Given the description of an element on the screen output the (x, y) to click on. 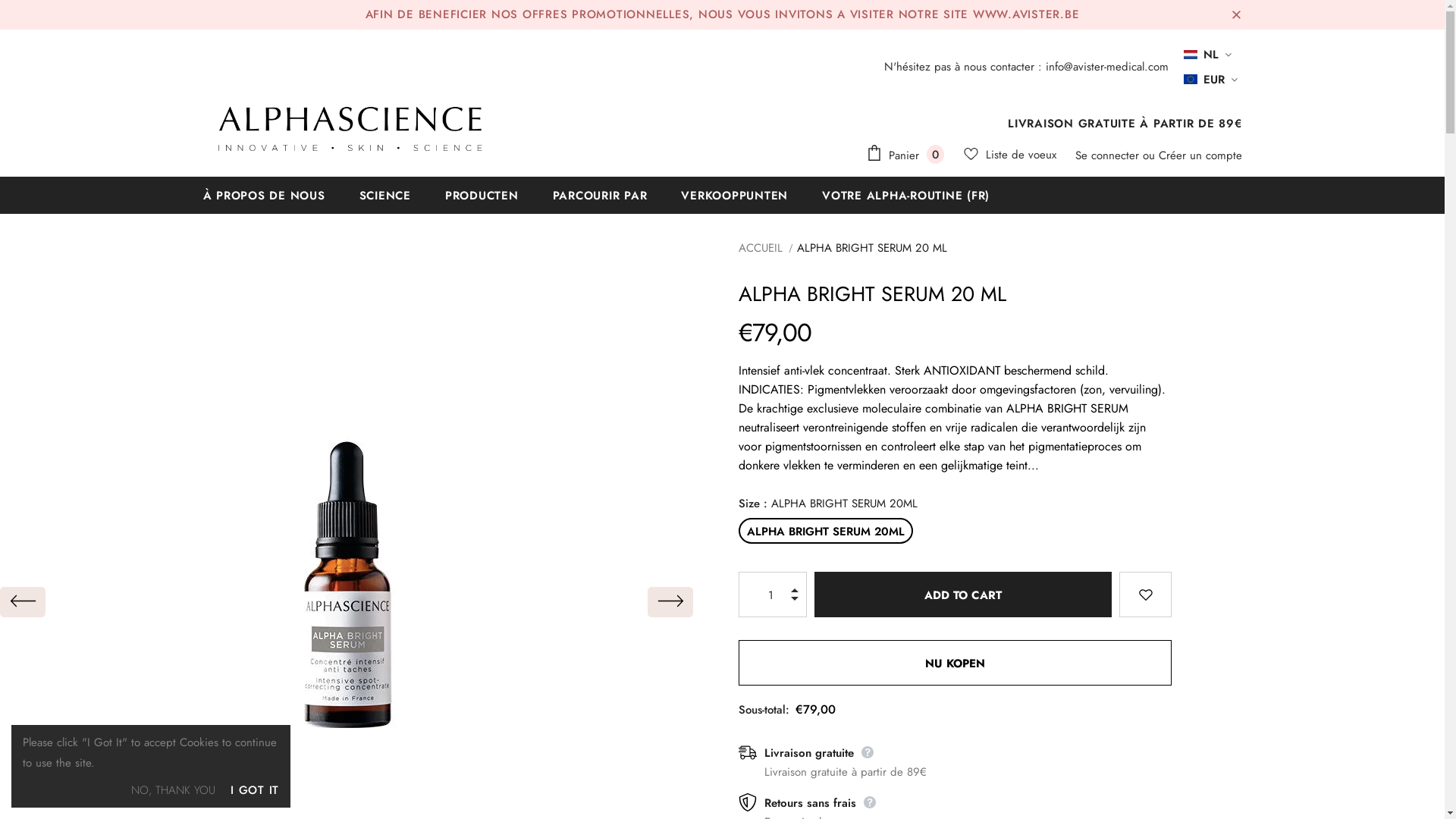
Panier 0 Element type: text (908, 155)
PRODUCTEN Element type: text (481, 194)
Liste de voeux Element type: text (1009, 155)
VOTRE ALPHA-ROUTINE (FR) Element type: text (905, 194)
Add to cart Element type: text (962, 594)
Se connecter Element type: text (1108, 155)
I GOT IT Element type: text (254, 790)
VERKOOPPUNTEN Element type: text (733, 194)
Logo Element type: hover (354, 128)
SCIENCE Element type: text (385, 194)
NU KOPEN Element type: text (954, 662)
close Element type: hover (1235, 13)
PARCOURIR PAR Element type: text (599, 194)
NO, THANK YOU Element type: text (173, 790)
ACCUEIL Element type: text (760, 248)
